Given the description of an element on the screen output the (x, y) to click on. 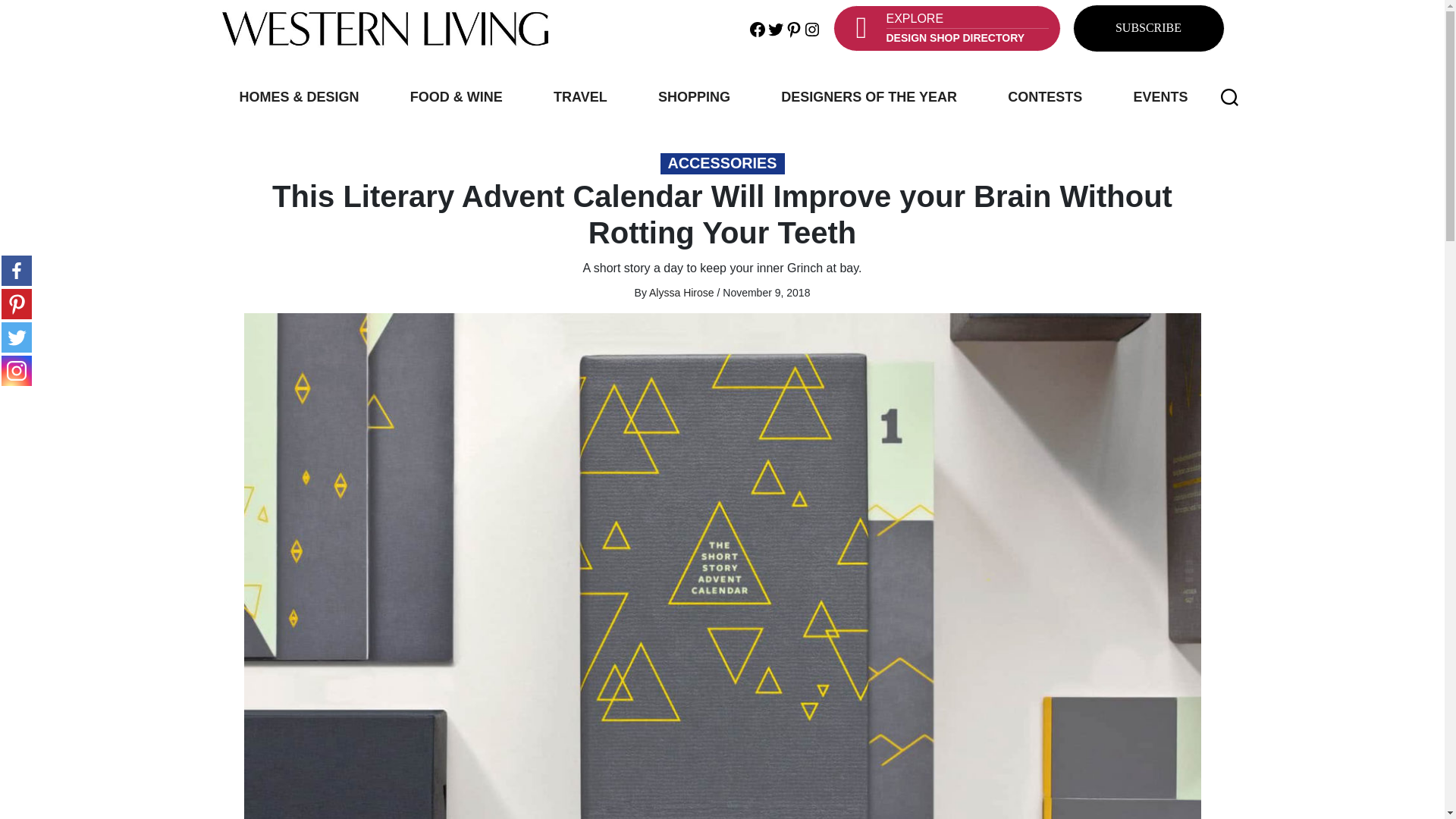
SUBSCRIBE (1147, 28)
Facebook (16, 270)
Instagram (945, 27)
Pinterest (16, 370)
Instagram (793, 27)
Twitter (811, 27)
Facebook (16, 337)
Pinterest (756, 27)
Twitter (16, 304)
